Given the description of an element on the screen output the (x, y) to click on. 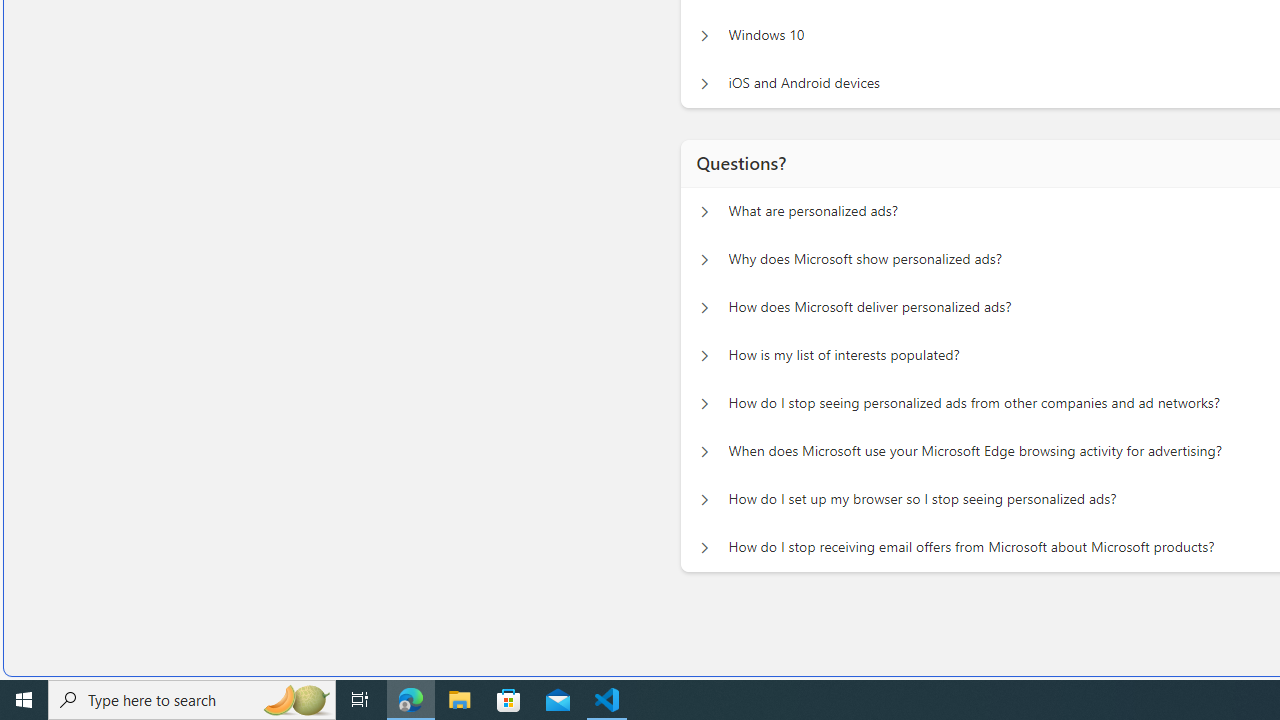
Questions? Why does Microsoft show personalized ads? (704, 255)
Questions? How does Microsoft deliver personalized ads? (704, 302)
Questions? What are personalized ads? (704, 206)
Questions? How is my list of interests populated? (704, 350)
Manage personalized ads on your device Windows 10 (704, 30)
